Given the description of an element on the screen output the (x, y) to click on. 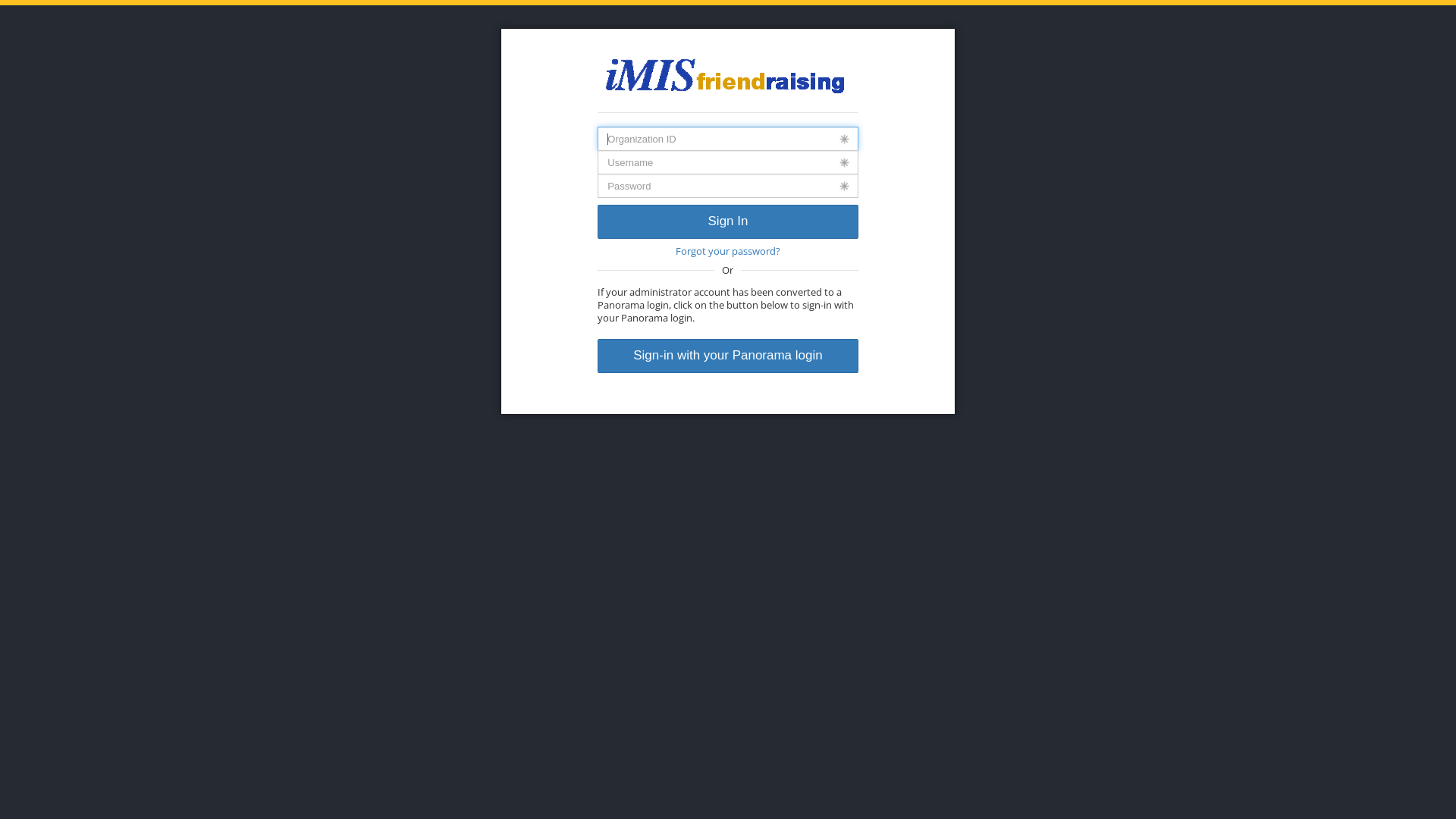
Sign In Element type: text (727, 221)
Sign-in with your Panorama login Element type: text (727, 355)
Forgot your password? Element type: text (727, 250)
